Given the description of an element on the screen output the (x, y) to click on. 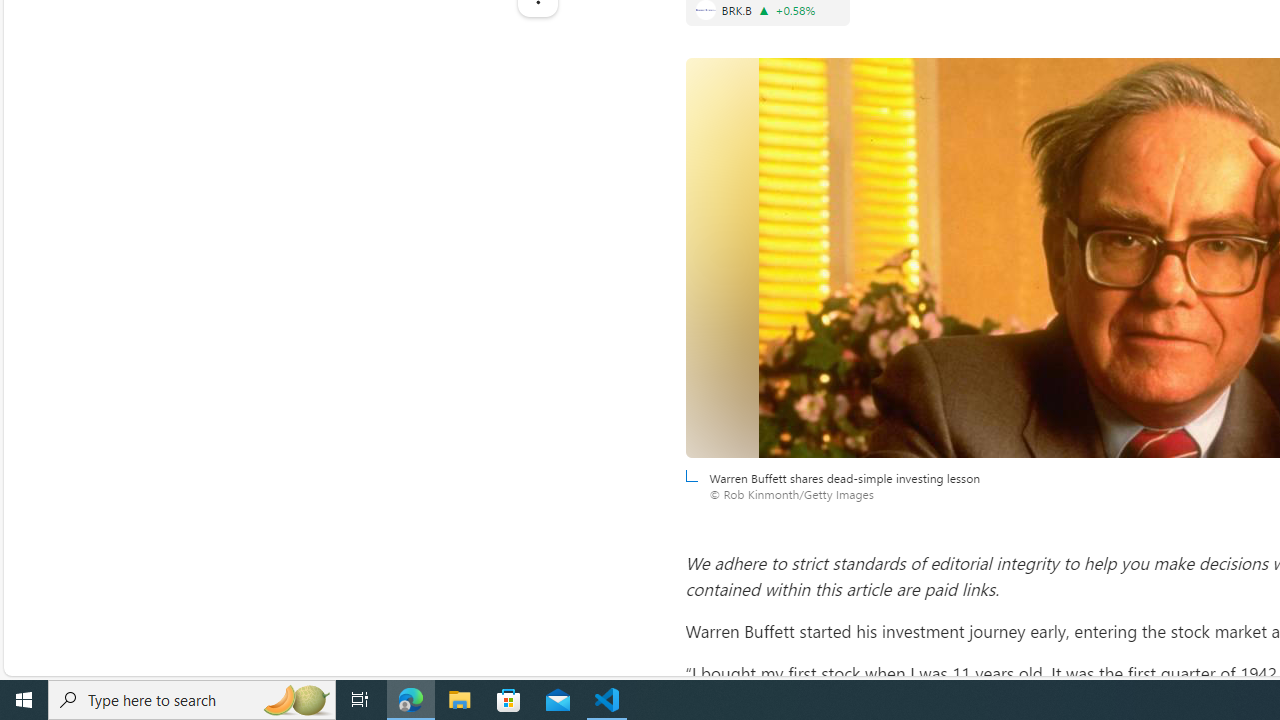
Price increase (763, 10)
BERKSHIRE HATHAWAY INC. (705, 10)
